Given the description of an element on the screen output the (x, y) to click on. 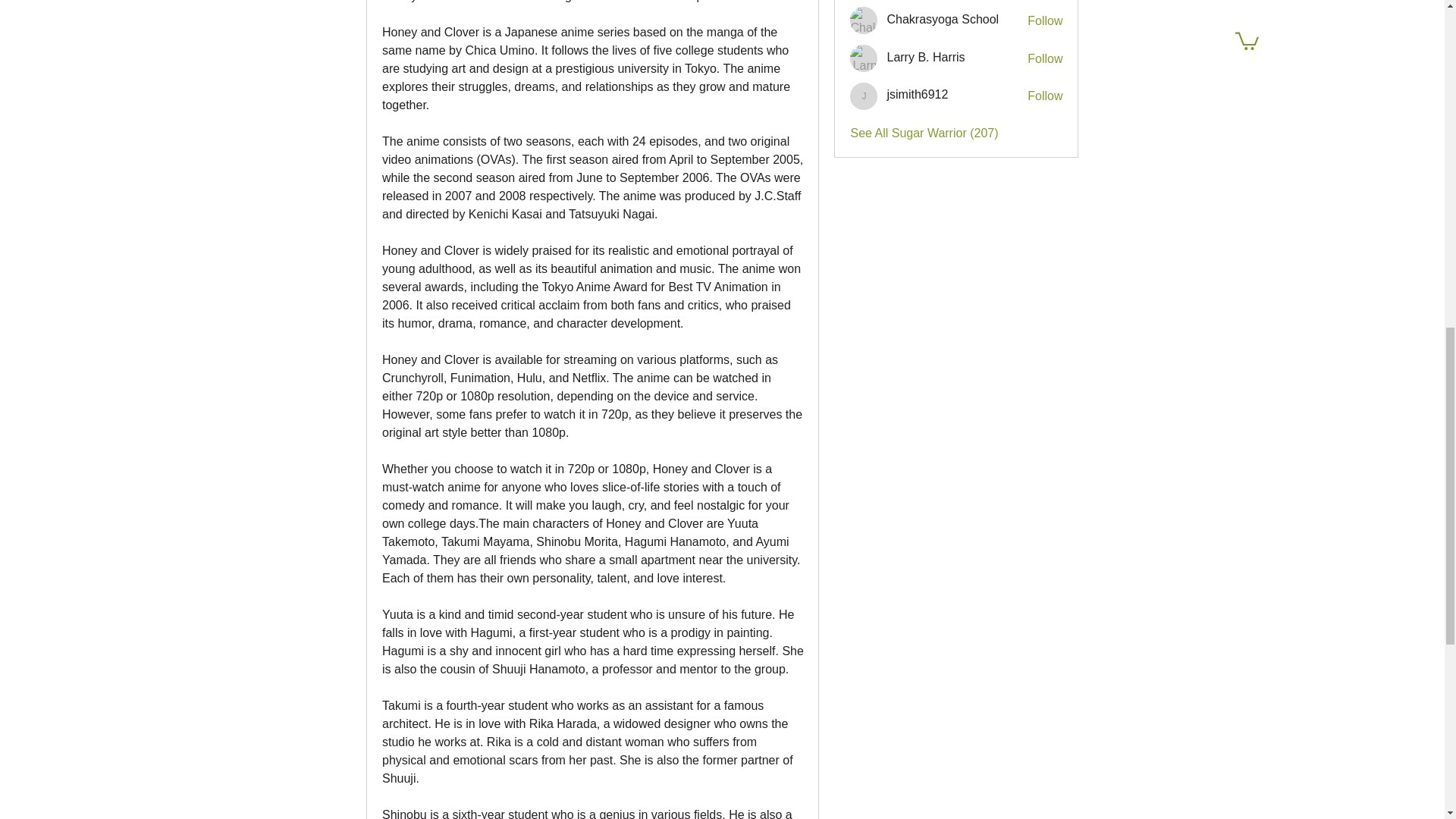
Larry B. Harris (863, 58)
jsimith6912 (916, 93)
Follow (1044, 21)
jsimith6912 (863, 95)
Follow (1044, 95)
Chakrasyoga School (863, 20)
Follow (1044, 58)
